Given the description of an element on the screen output the (x, y) to click on. 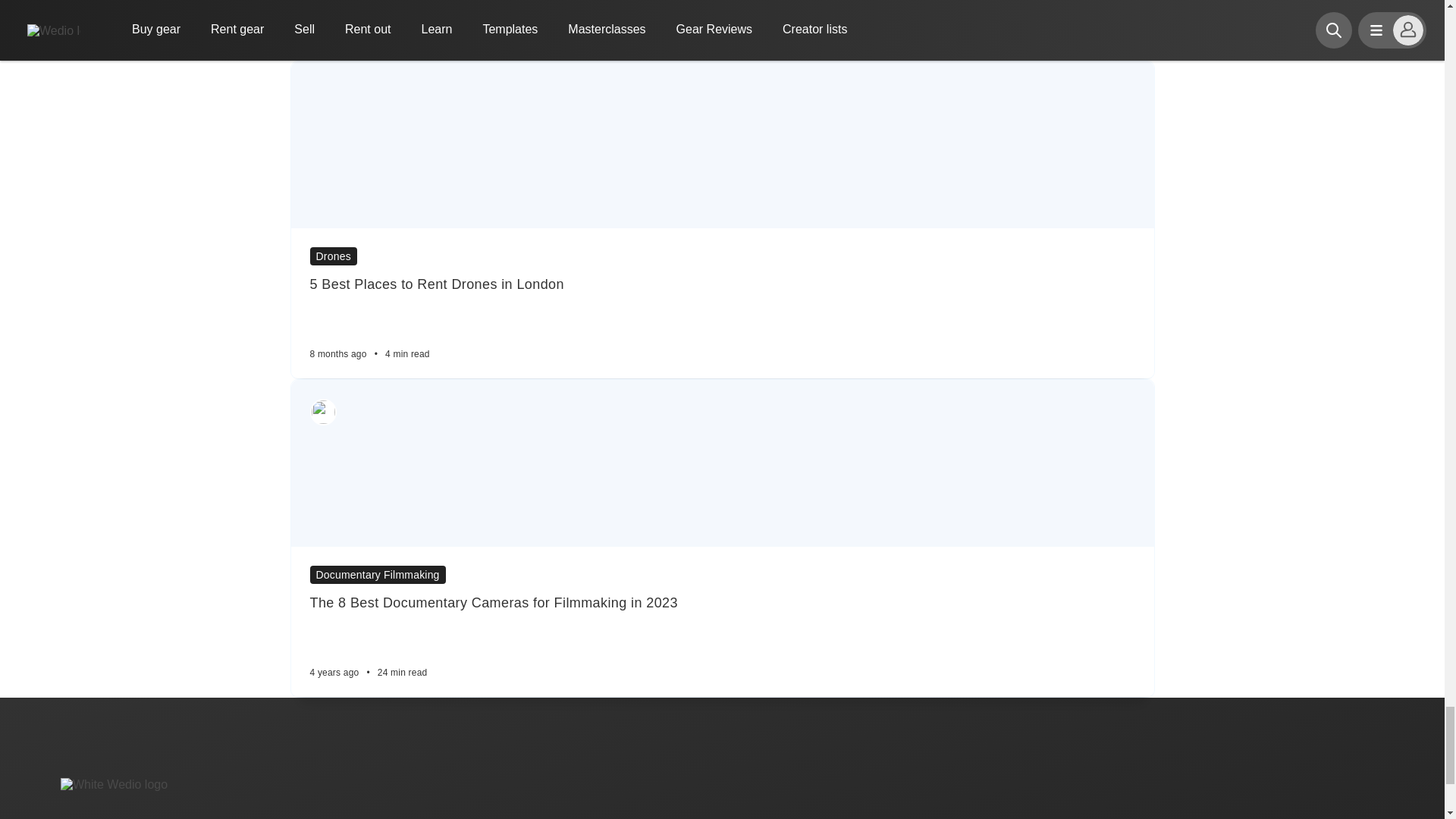
5 Best Places to Rent Drones in London (721, 284)
The 8 Best Documentary Cameras for Filmmaking in 2023 (721, 602)
